Given the description of an element on the screen output the (x, y) to click on. 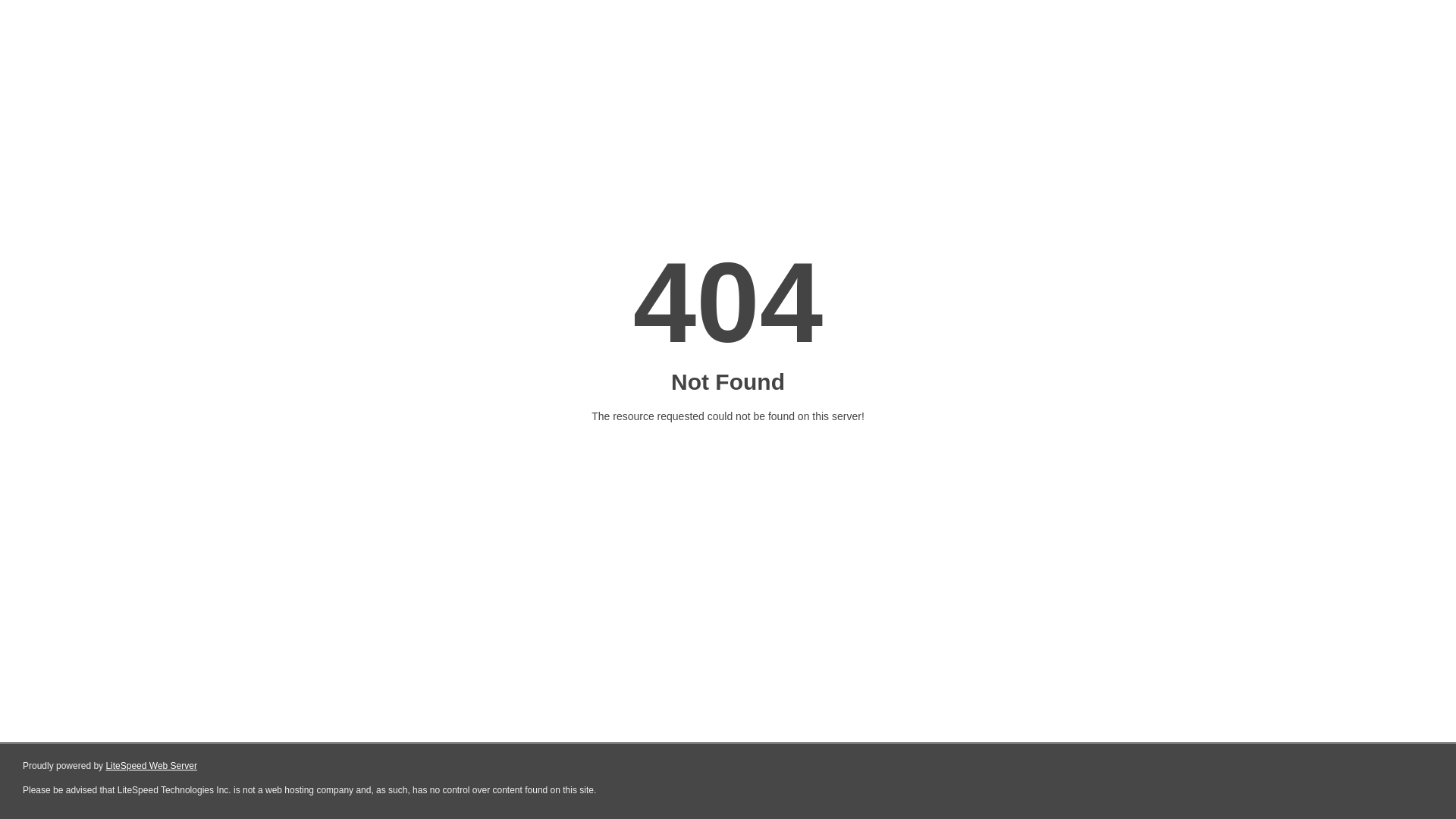
LiteSpeed Web Server Element type: text (151, 765)
